Given the description of an element on the screen output the (x, y) to click on. 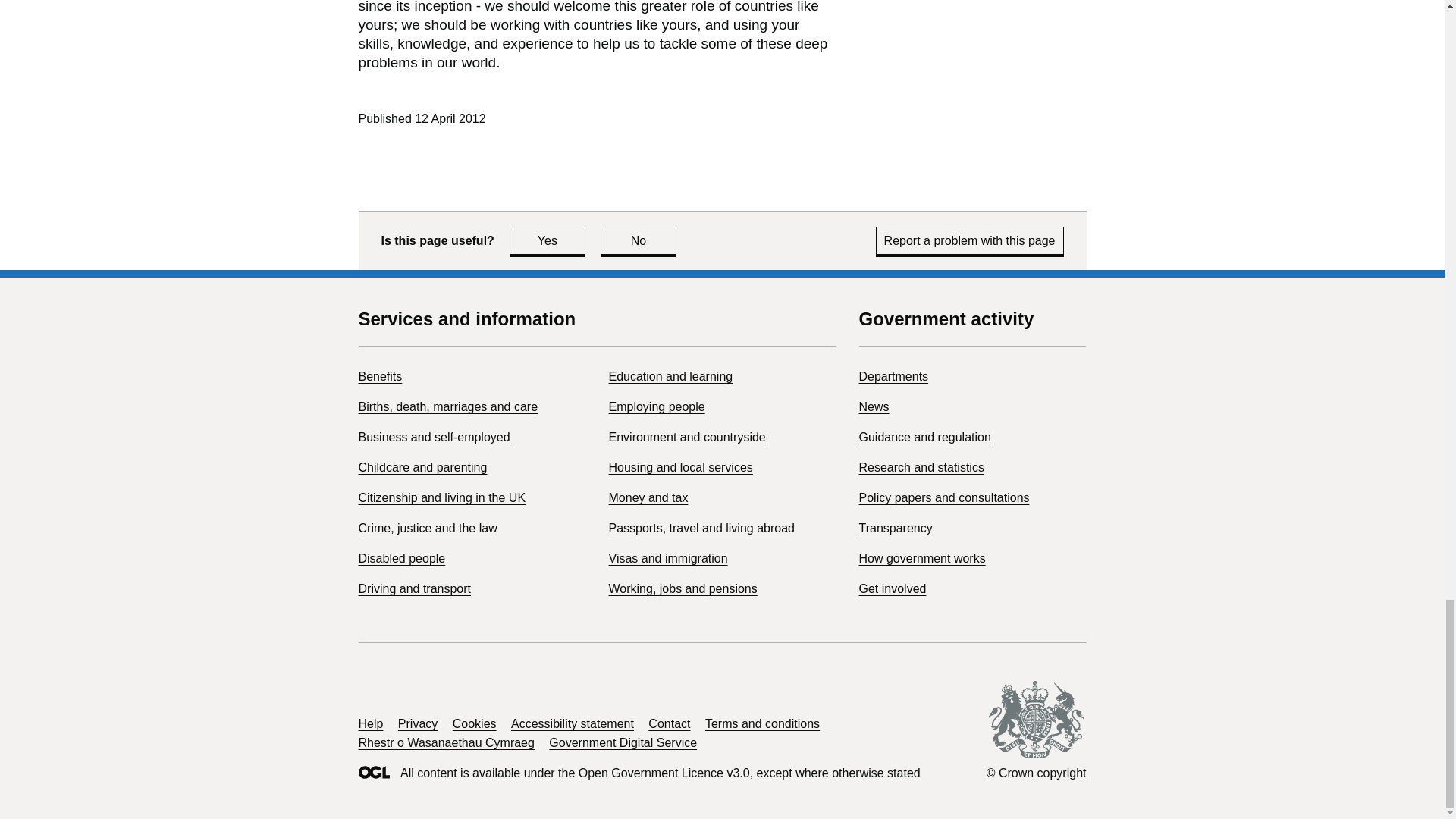
Business and self-employed (433, 436)
Driving and transport (414, 588)
How government works (922, 558)
Privacy (417, 723)
News (873, 406)
Employing people (656, 406)
Benefits (379, 376)
Help (370, 723)
Policy papers and consultations (944, 497)
Guidance and regulation (924, 436)
Transparency (895, 527)
Passports, travel and living abroad (700, 527)
Working, jobs and pensions (682, 588)
Housing and local services (680, 467)
Get involved (892, 588)
